Given the description of an element on the screen output the (x, y) to click on. 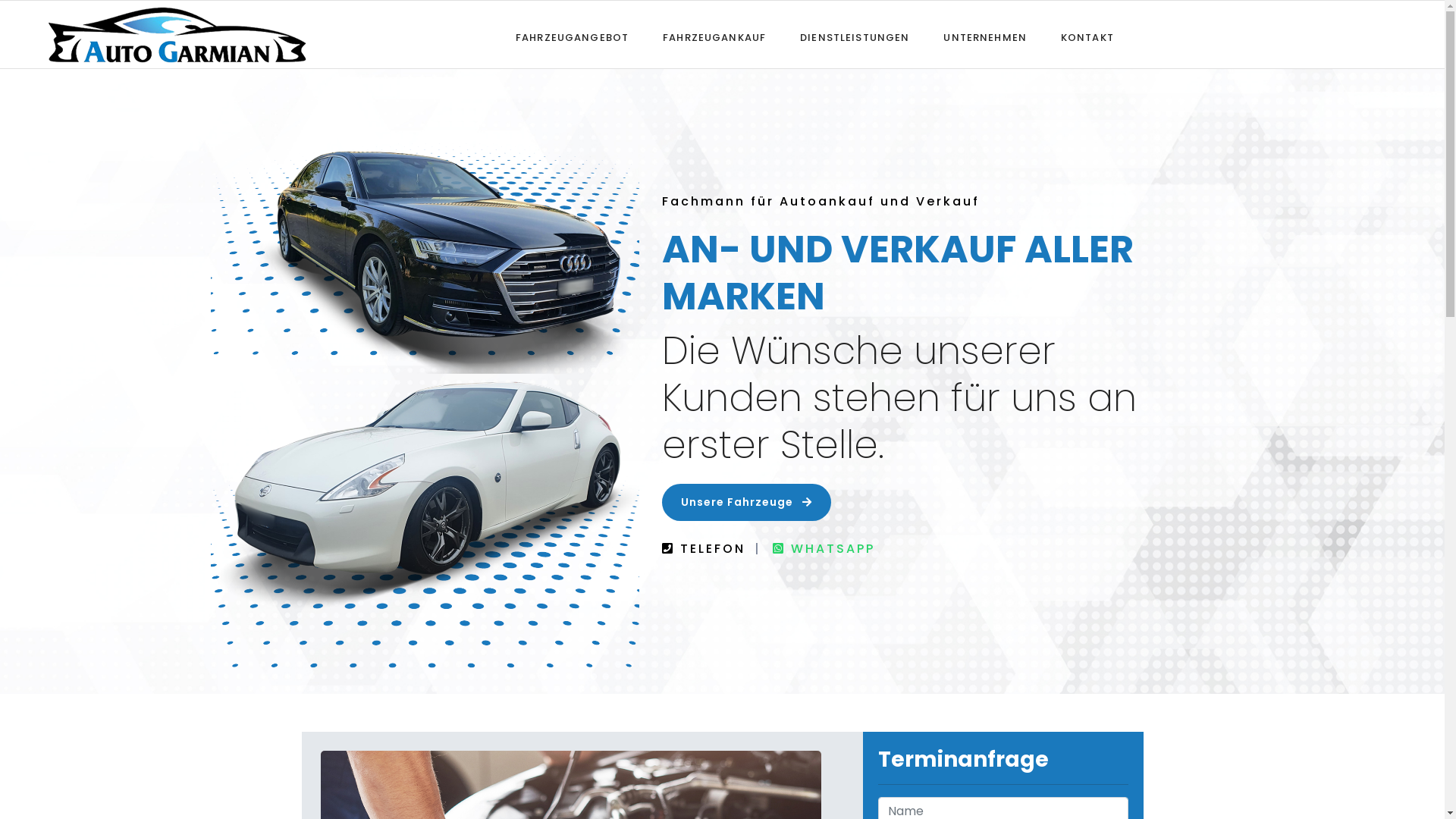
WHATSAPP Element type: text (822, 548)
KONTAKT Element type: text (1086, 37)
Unsere Fahrzeuge Element type: text (745, 501)
DIENSTLEISTUNGEN Element type: text (854, 37)
FAHRZEUGANGEBOT Element type: text (571, 37)
FAHRZEUGANKAUF Element type: text (713, 37)
UNTERNEHMEN Element type: text (984, 37)
TELEFON Element type: text (711, 548)
